Given the description of an element on the screen output the (x, y) to click on. 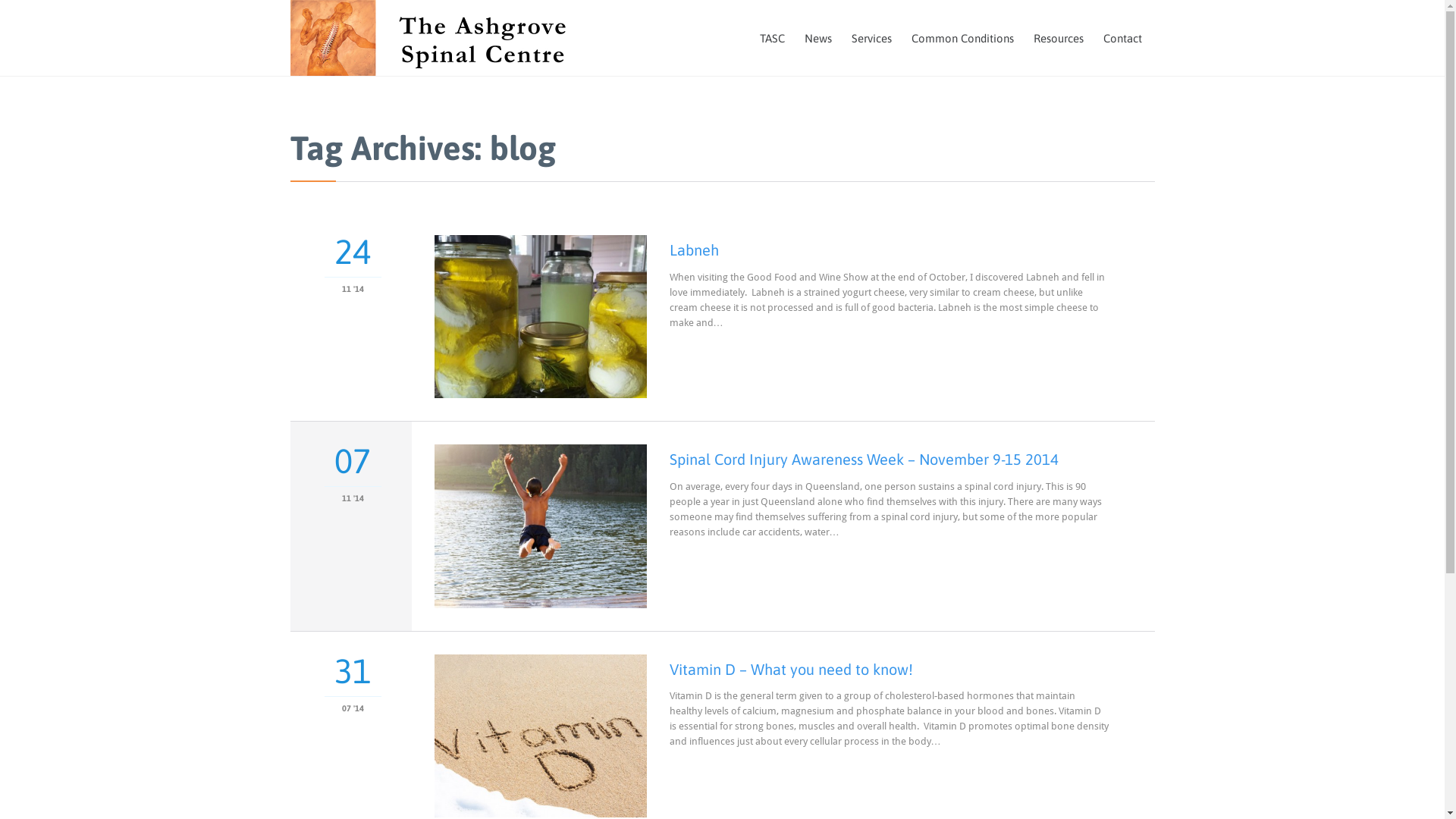
Common Conditions Element type: text (961, 38)
Skip to content Element type: text (1154, 21)
Labneh Element type: text (693, 249)
Contact Element type: text (1122, 38)
The Ashgrove Spinal Centre Element type: hover (439, 37)
News Element type: text (817, 38)
TASC Element type: text (771, 38)
Services Element type: text (871, 38)
Resources Element type: text (1058, 38)
